Given the description of an element on the screen output the (x, y) to click on. 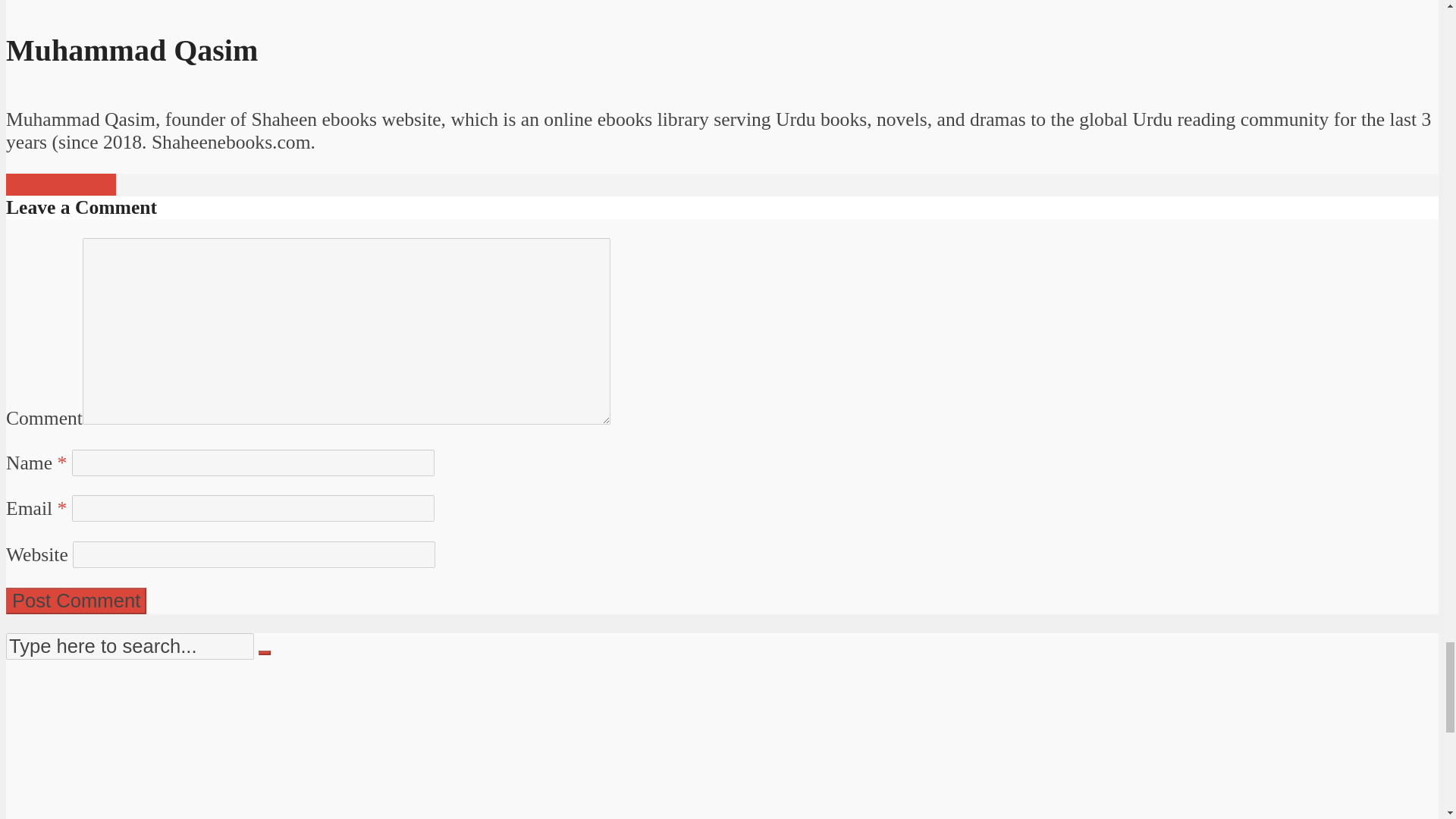
Type here to search... (129, 646)
Post Comment (76, 601)
Type here to search... (129, 646)
